Given the description of an element on the screen output the (x, y) to click on. 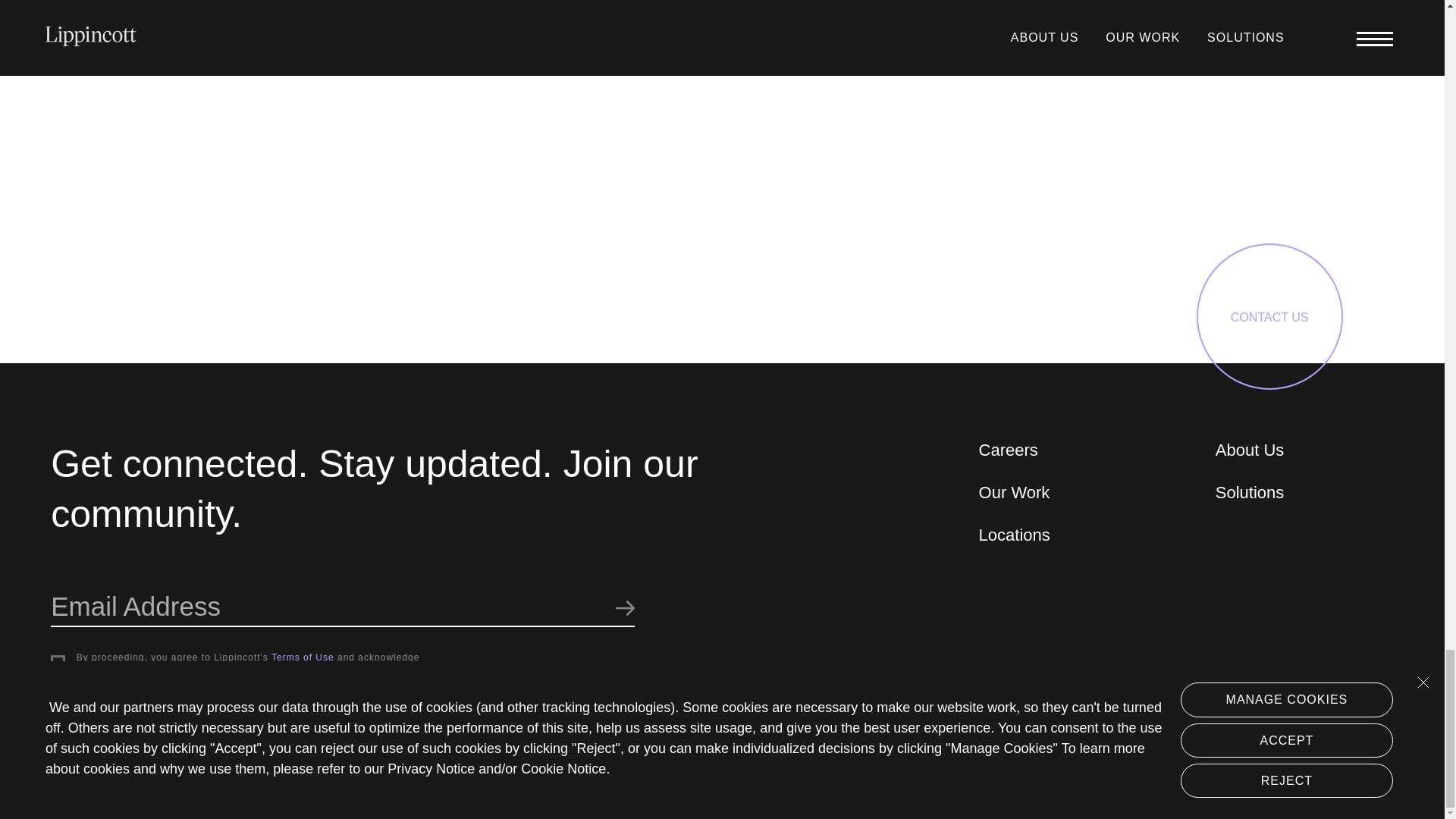
on (57, 662)
